Given the description of an element on the screen output the (x, y) to click on. 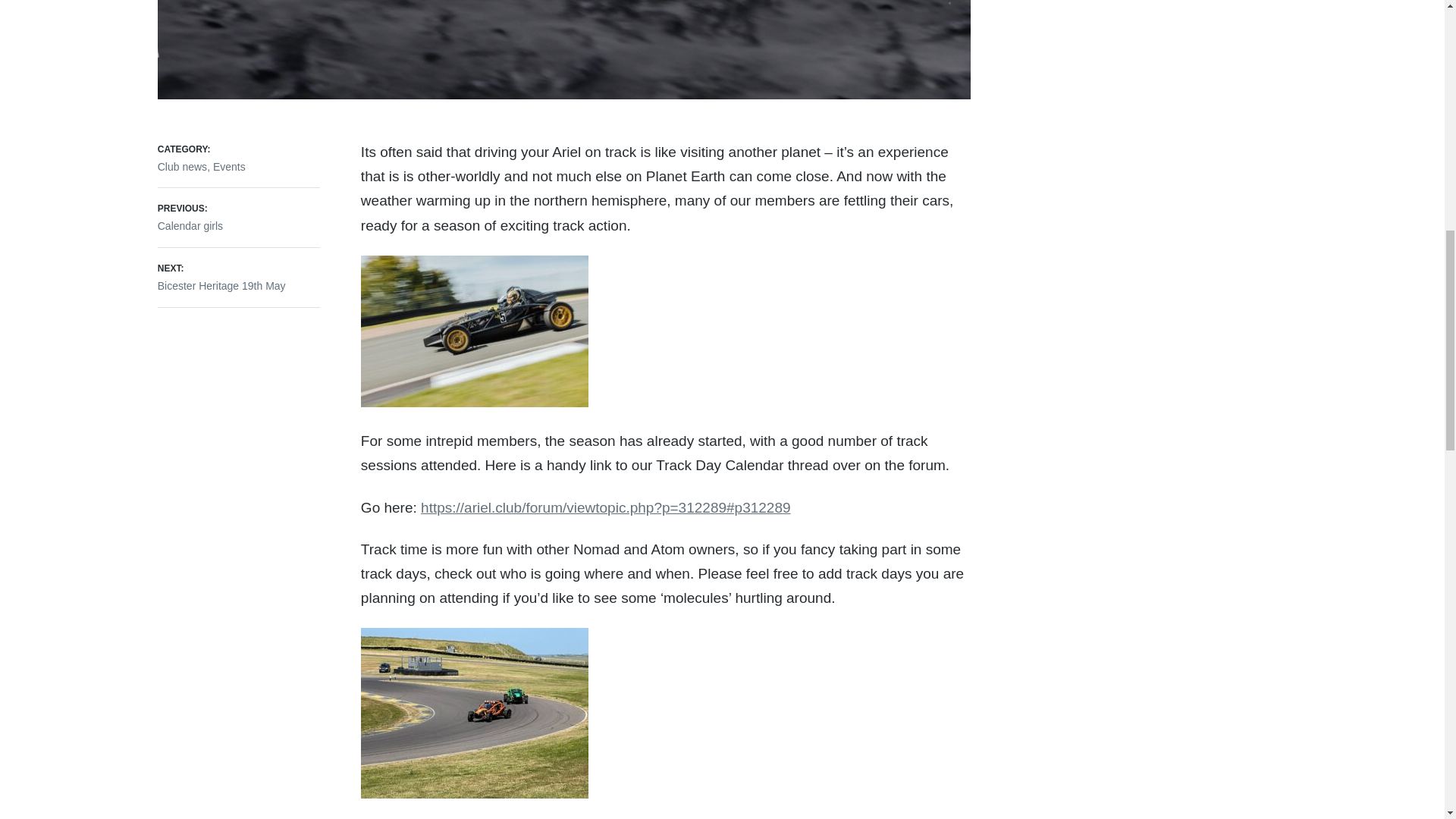
Club news (238, 276)
Events (181, 166)
